Given the description of an element on the screen output the (x, y) to click on. 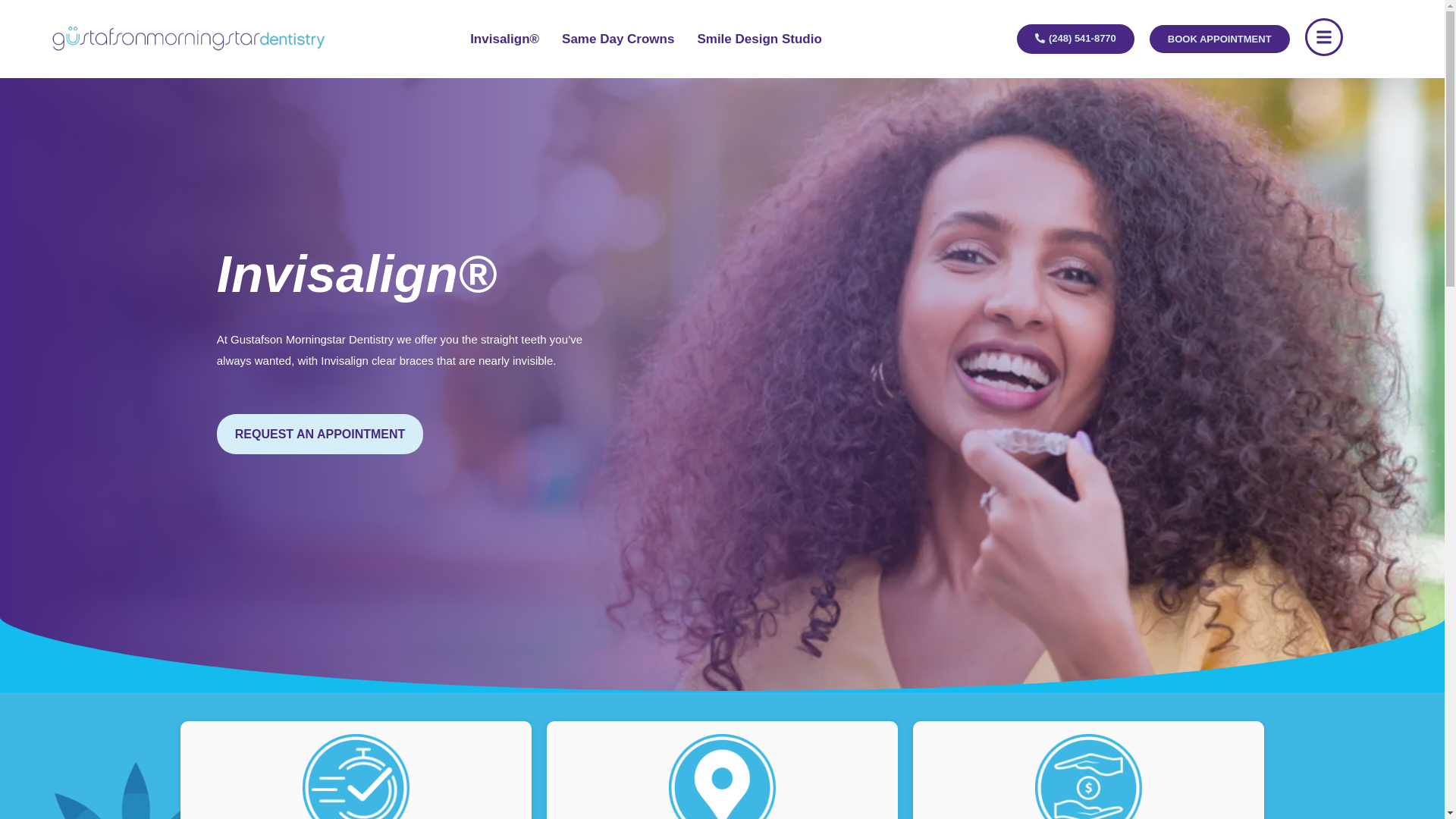
Same Day Crowns (618, 39)
REQUEST AN APPOINTMENT (319, 434)
BOOK APPOINTMENT (1220, 39)
Smile Design Studio (759, 39)
